Given the description of an element on the screen output the (x, y) to click on. 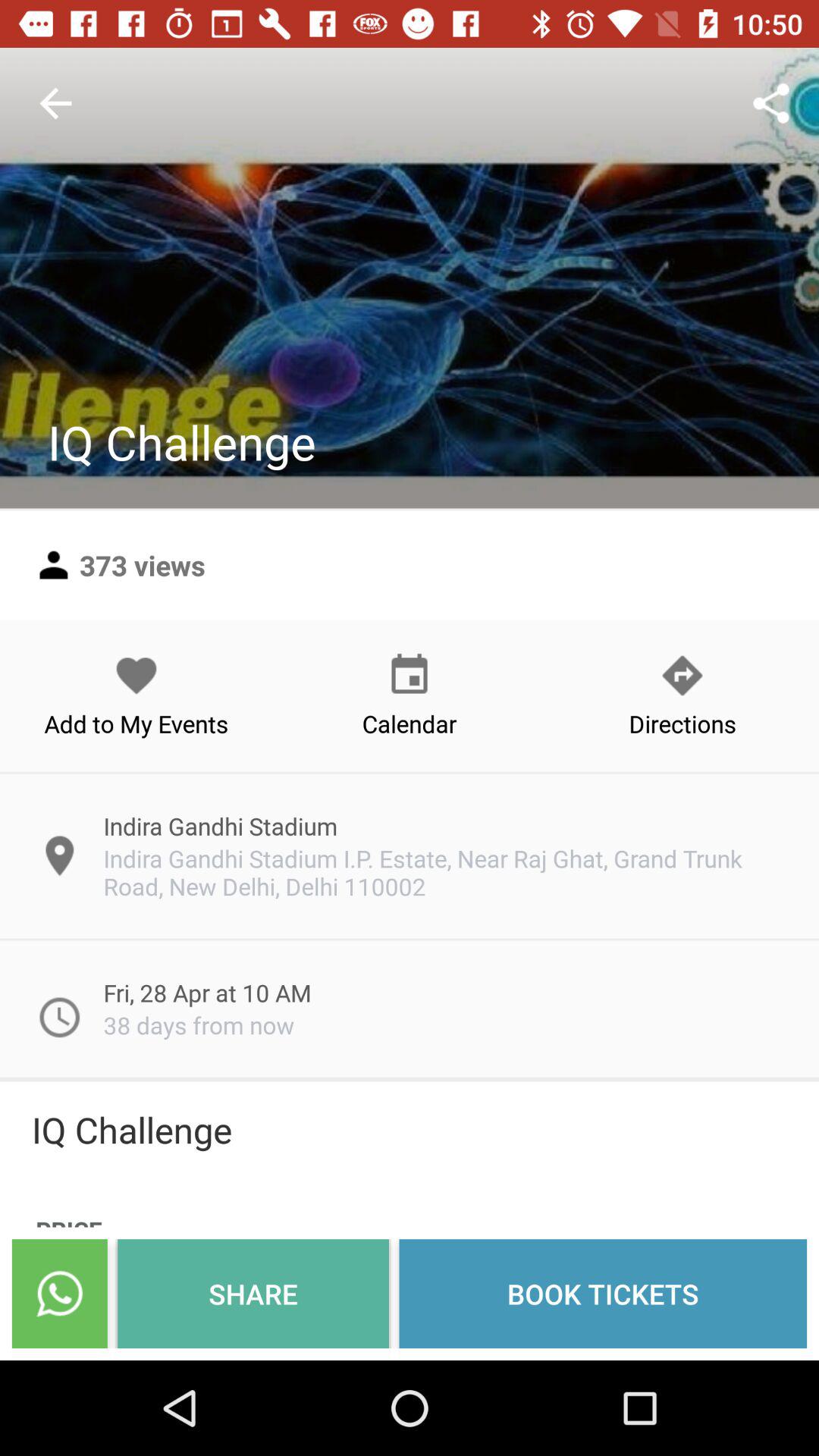
launch iq challenge item (409, 1129)
